Given the description of an element on the screen output the (x, y) to click on. 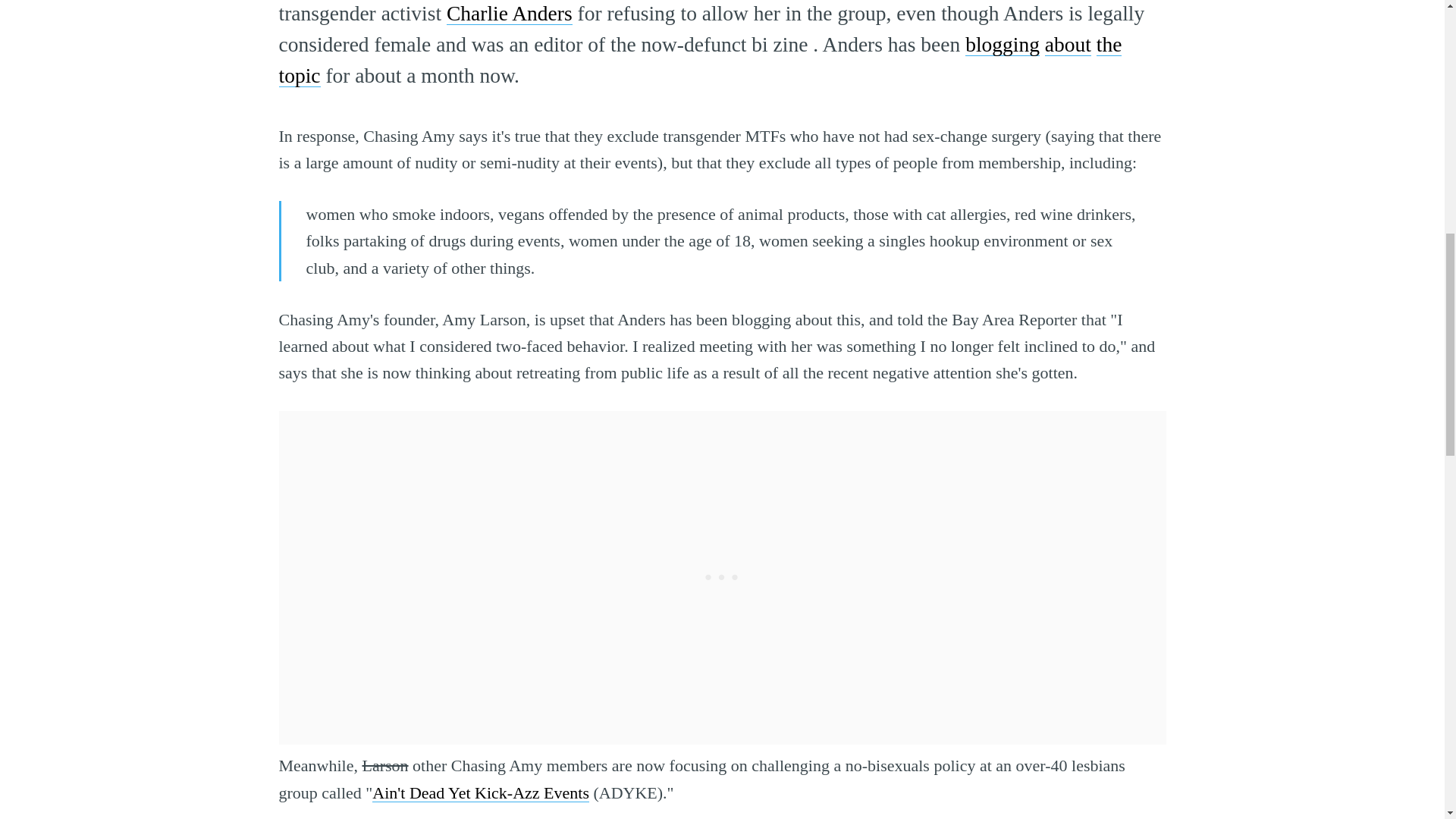
Charlie Anders (509, 13)
Ain't Dead Yet Kick-Azz Events (480, 792)
topic (299, 74)
the (1109, 44)
about (1067, 44)
blogging (1002, 44)
